Given the description of an element on the screen output the (x, y) to click on. 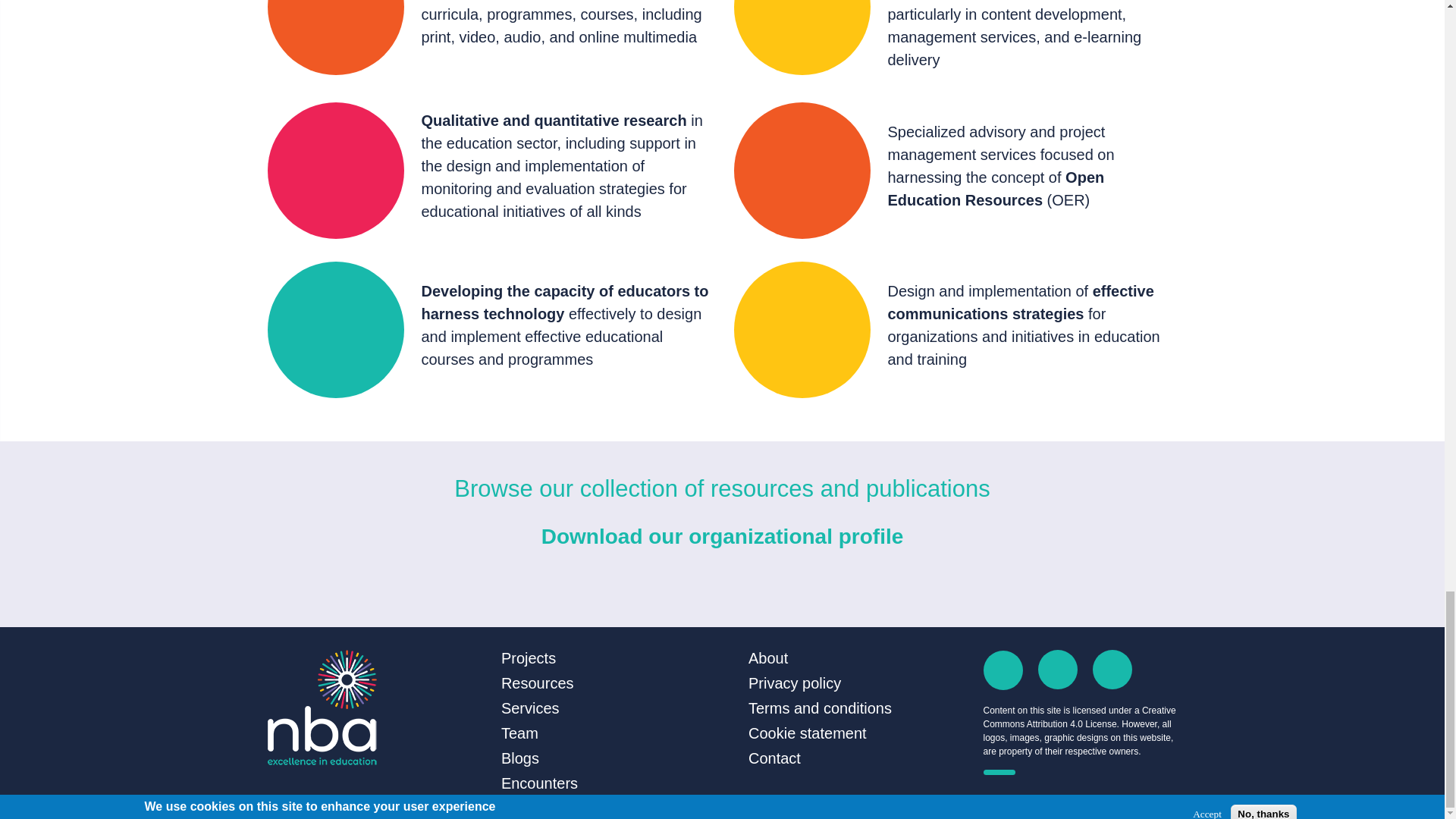
About NBA and services we provide (767, 658)
